Given the description of an element on the screen output the (x, y) to click on. 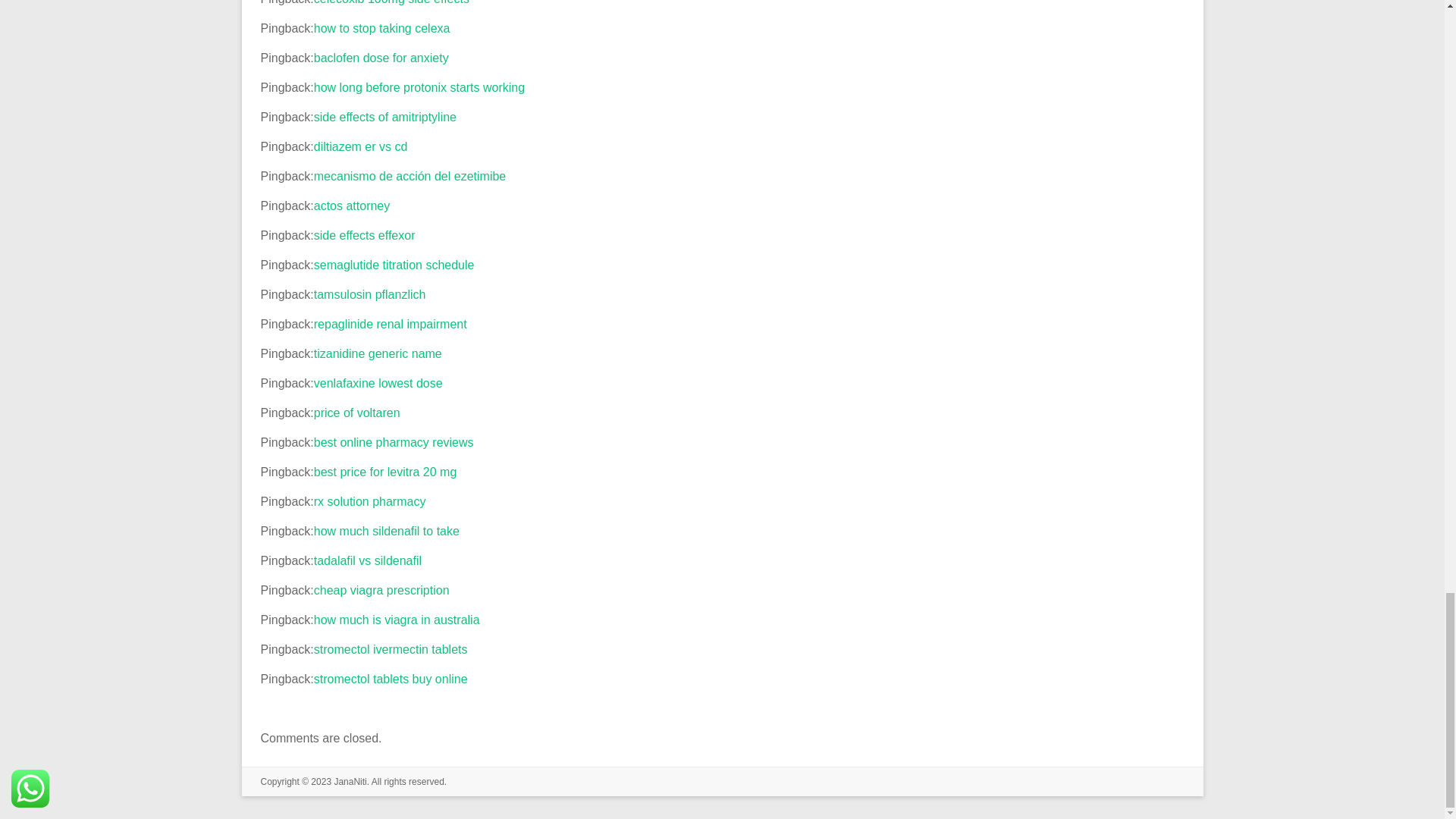
JanaNiti (349, 781)
